Given the description of an element on the screen output the (x, y) to click on. 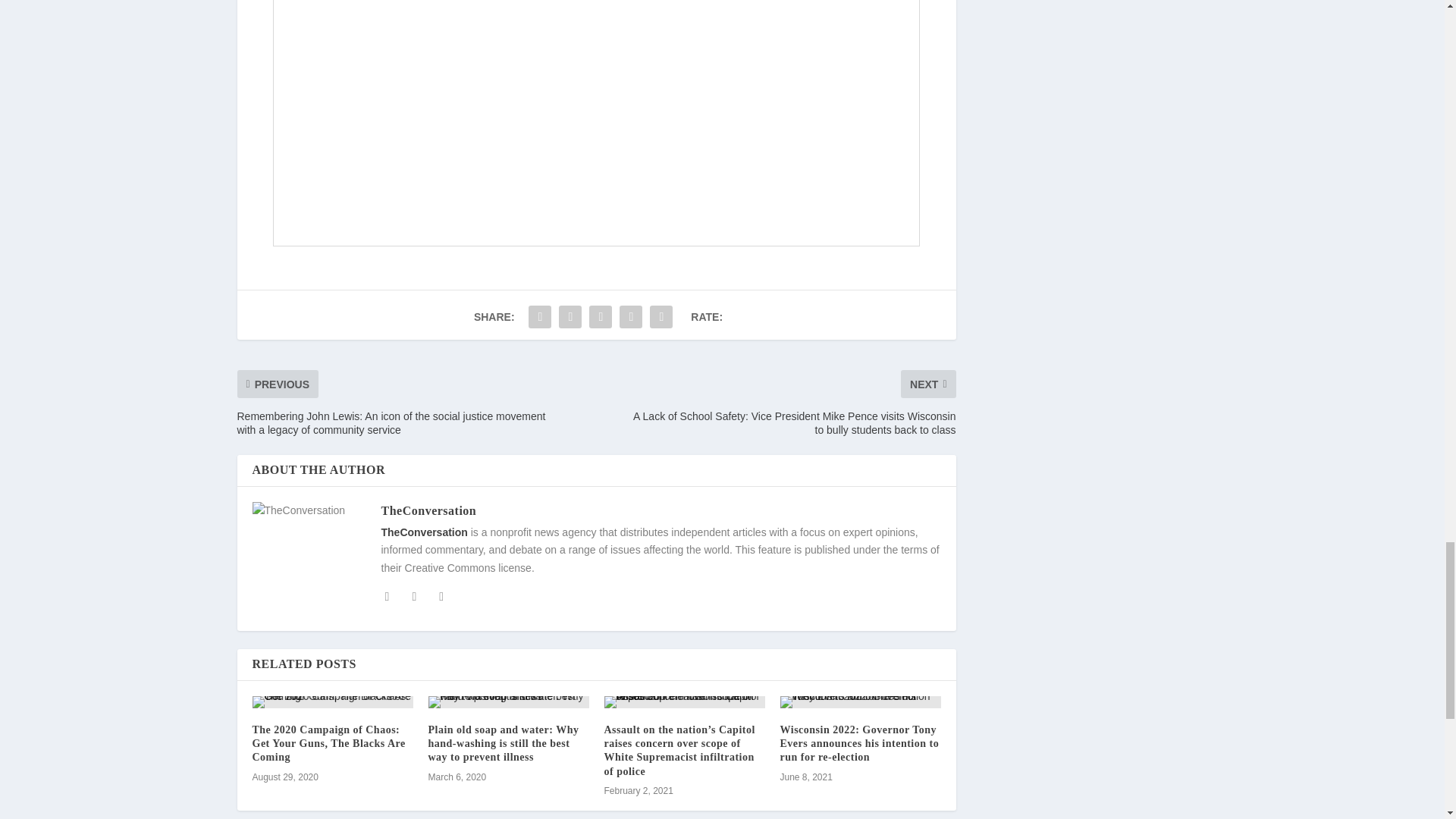
View all posts by TheConversation (428, 510)
